Given the description of an element on the screen output the (x, y) to click on. 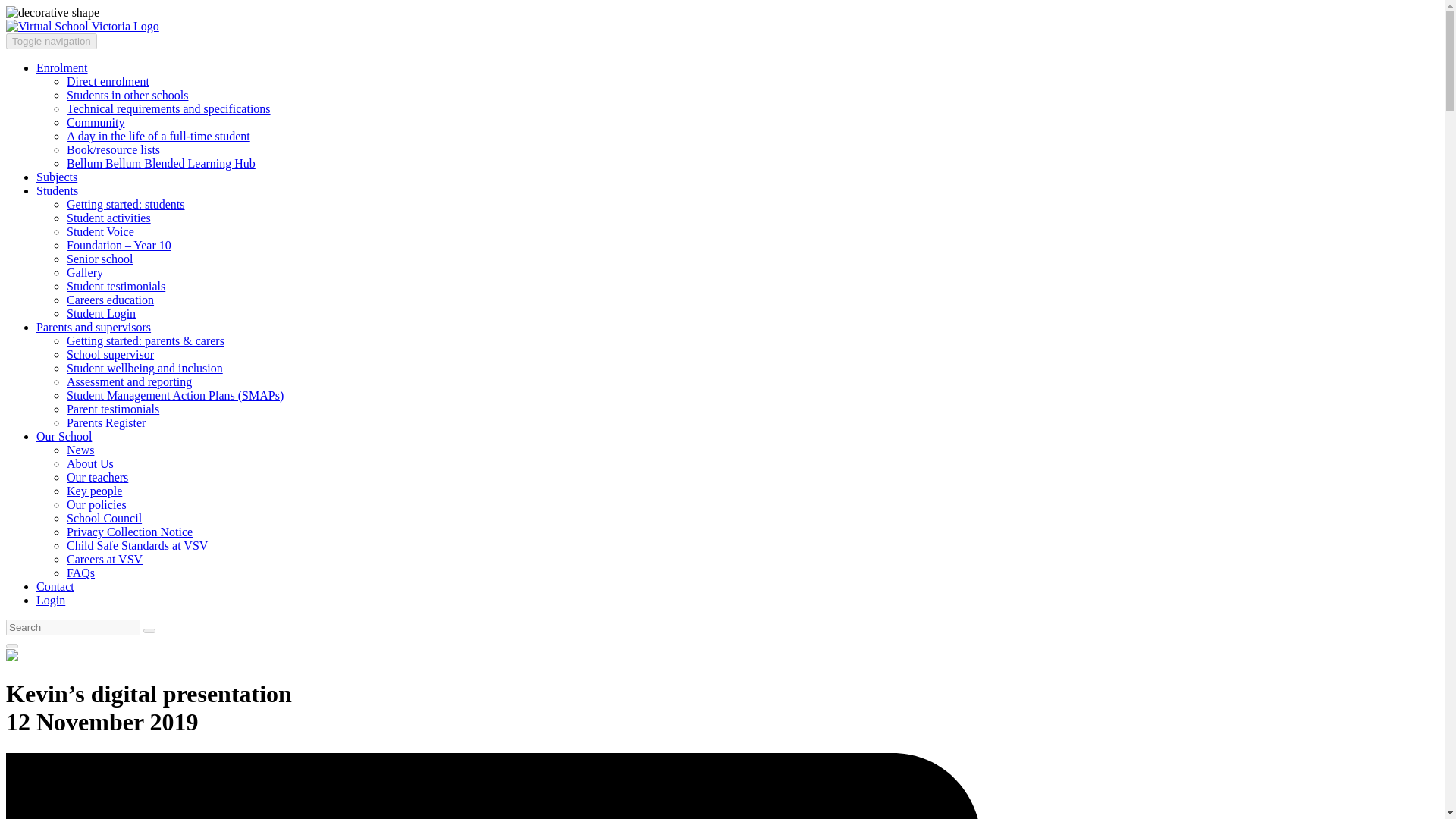
Our School (63, 436)
Student Voice (99, 231)
Toggle navigation (51, 41)
Parents and supervisors (93, 327)
Privacy Collection Notice (129, 531)
A day in the life of a full-time student (158, 135)
Gallery (84, 272)
About Us (89, 463)
Students (57, 190)
Technical requirements and specifications (168, 108)
Student Login (100, 313)
Assessment and reporting (129, 381)
Key people (94, 490)
Careers education (110, 299)
School supervisor (110, 354)
